Given the description of an element on the screen output the (x, y) to click on. 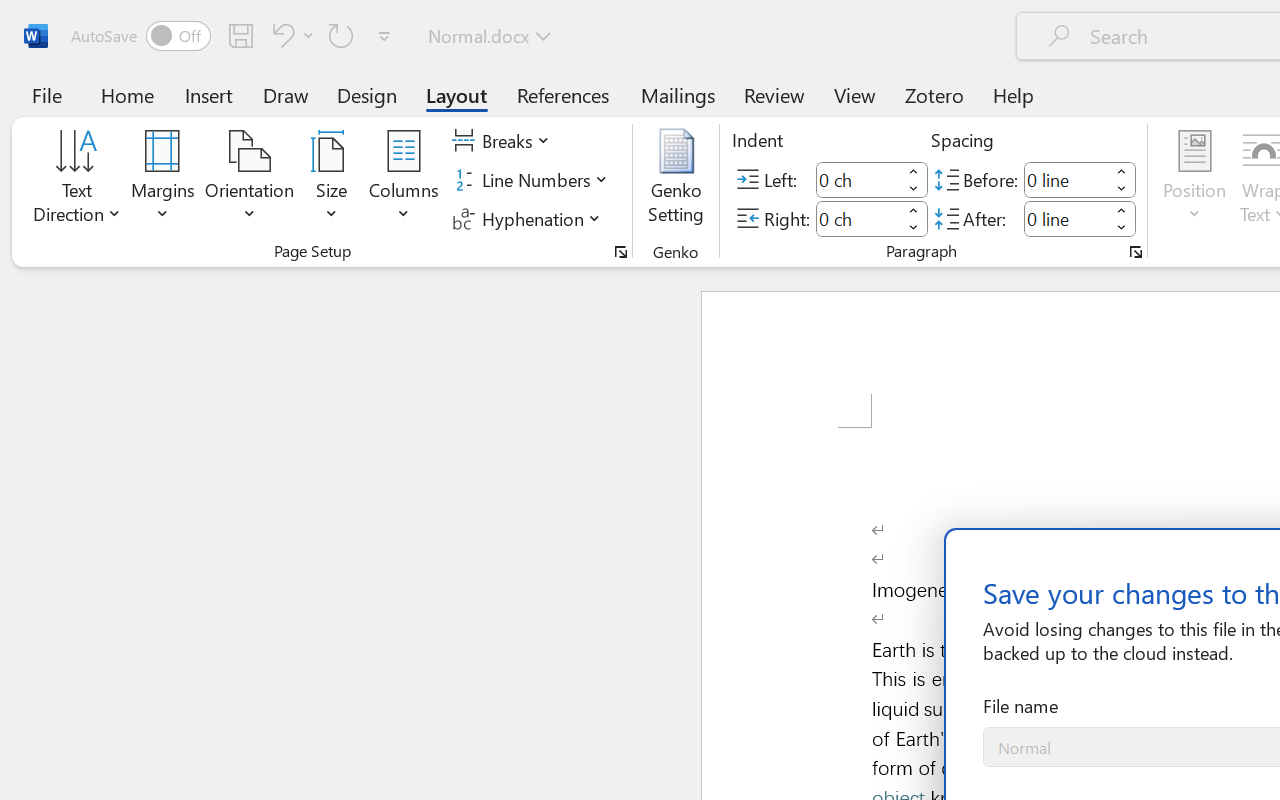
Position (1194, 179)
Text Direction (77, 179)
Orientation (250, 179)
Spacing After (1066, 218)
Paragraph... (1135, 252)
Undo Paste Destination Formatting (290, 35)
Size (331, 179)
